Given the description of an element on the screen output the (x, y) to click on. 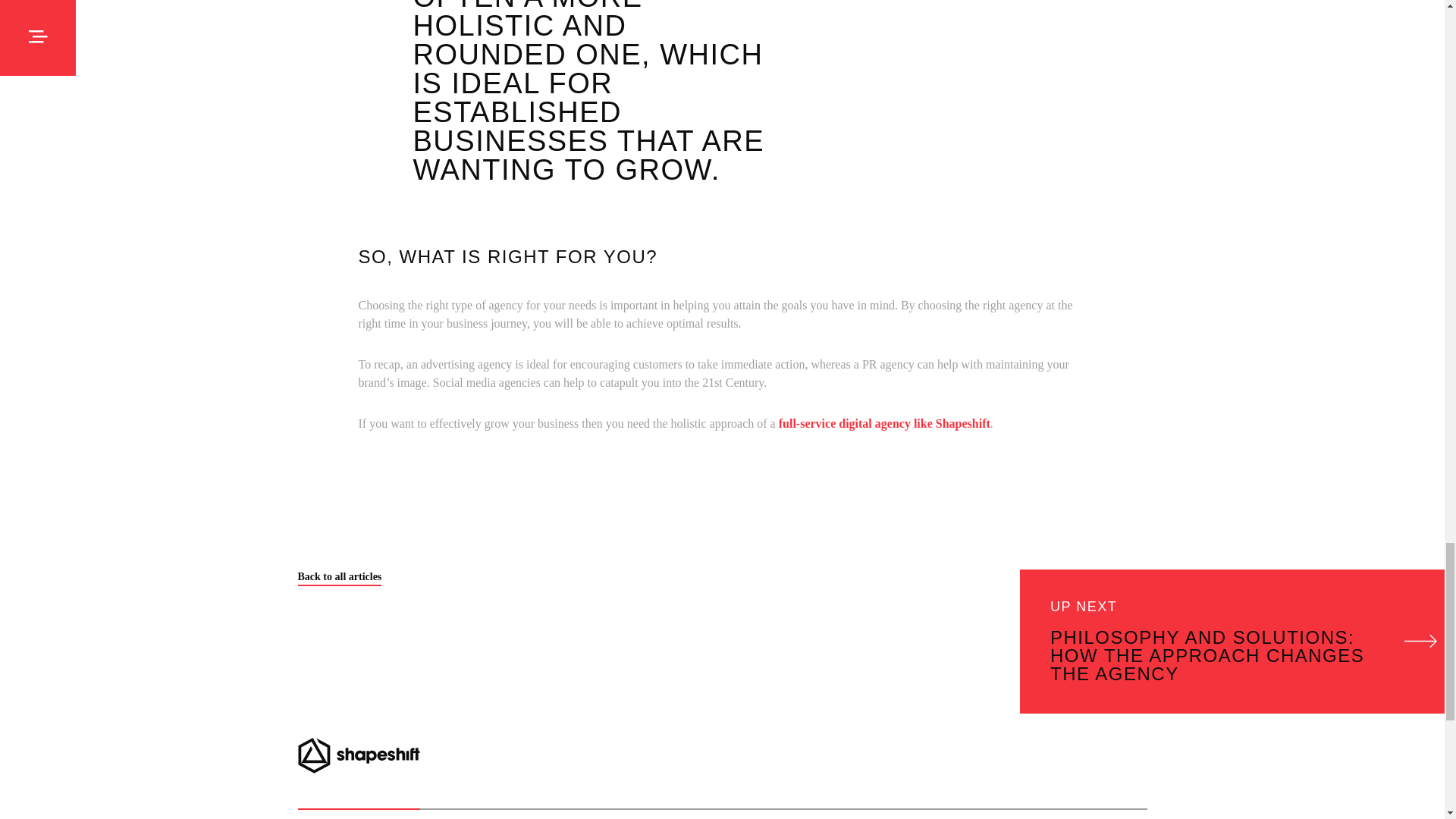
Back to all articles (339, 578)
full-service digital agency like Shapeshift (884, 422)
